Given the description of an element on the screen output the (x, y) to click on. 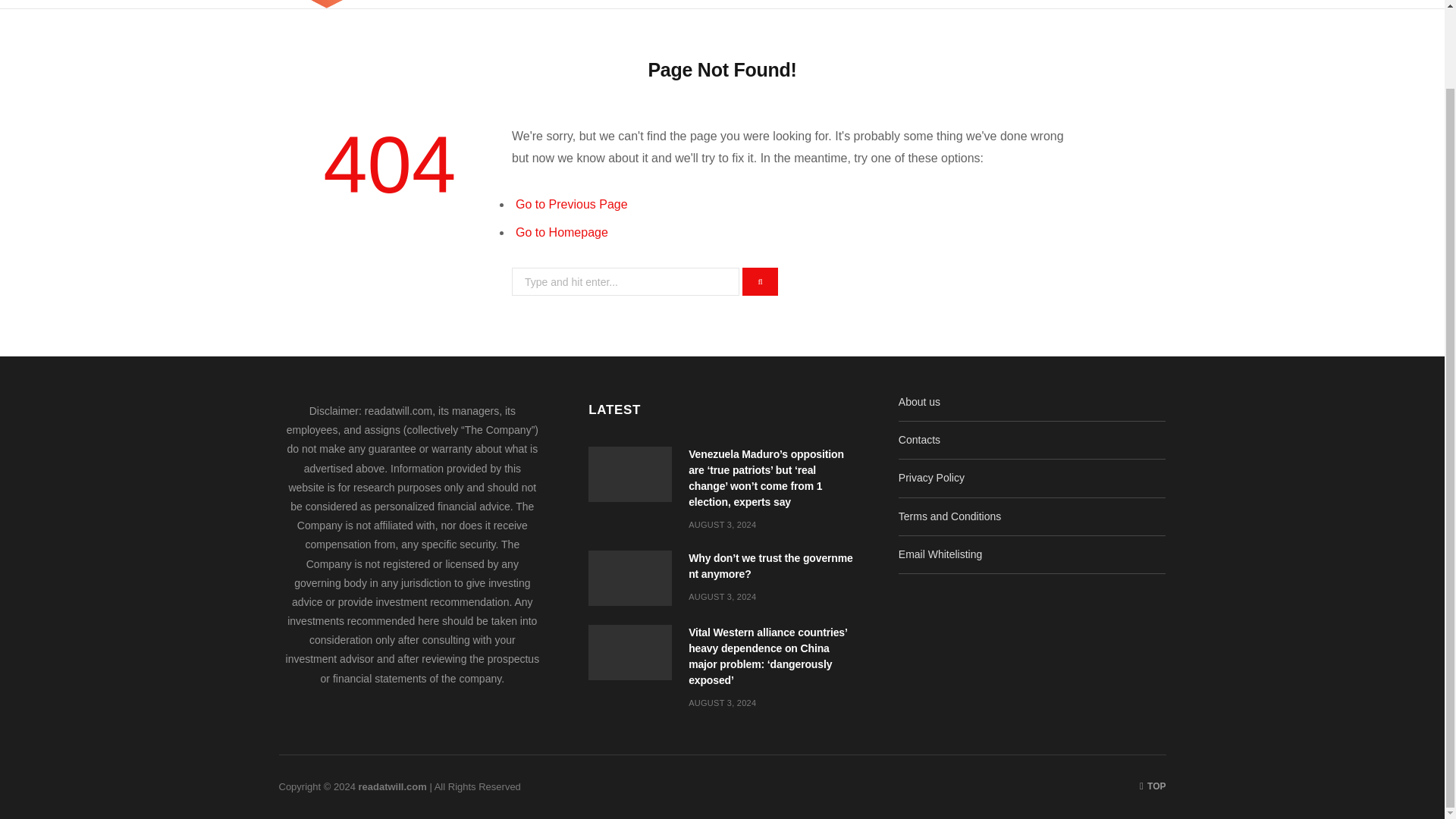
AUGUST 3, 2024 (721, 524)
Search for: (625, 281)
Read At Will (455, 4)
TOP (1153, 786)
Contacts (919, 439)
Privacy Policy (930, 477)
AUGUST 3, 2024 (721, 702)
AUGUST 3, 2024 (721, 596)
Search (1161, 4)
Email Whitelisting (939, 553)
Go to Homepage (561, 232)
About us (919, 401)
Terms and Conditions (949, 516)
Go to Previous Page (571, 204)
WORLD (852, 4)
